Given the description of an element on the screen output the (x, y) to click on. 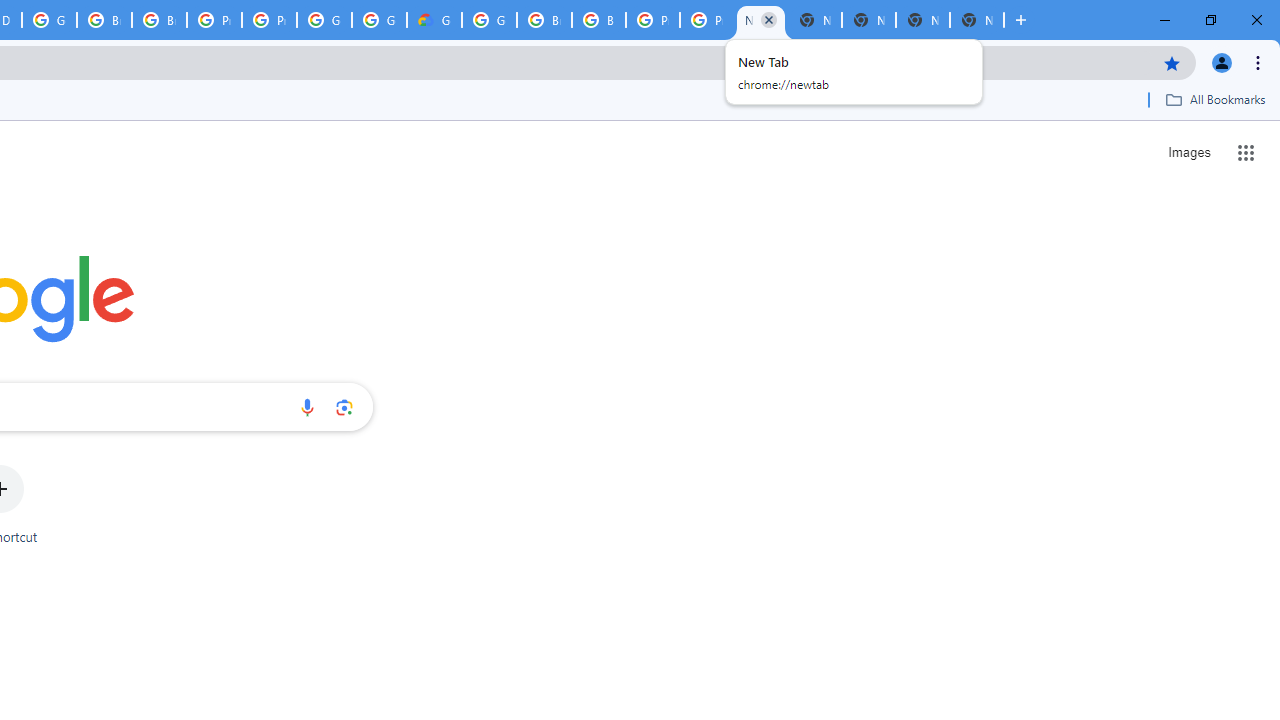
New Tab (868, 20)
Google Cloud Platform (379, 20)
Google Cloud Estimate Summary (434, 20)
